Given the description of an element on the screen output the (x, y) to click on. 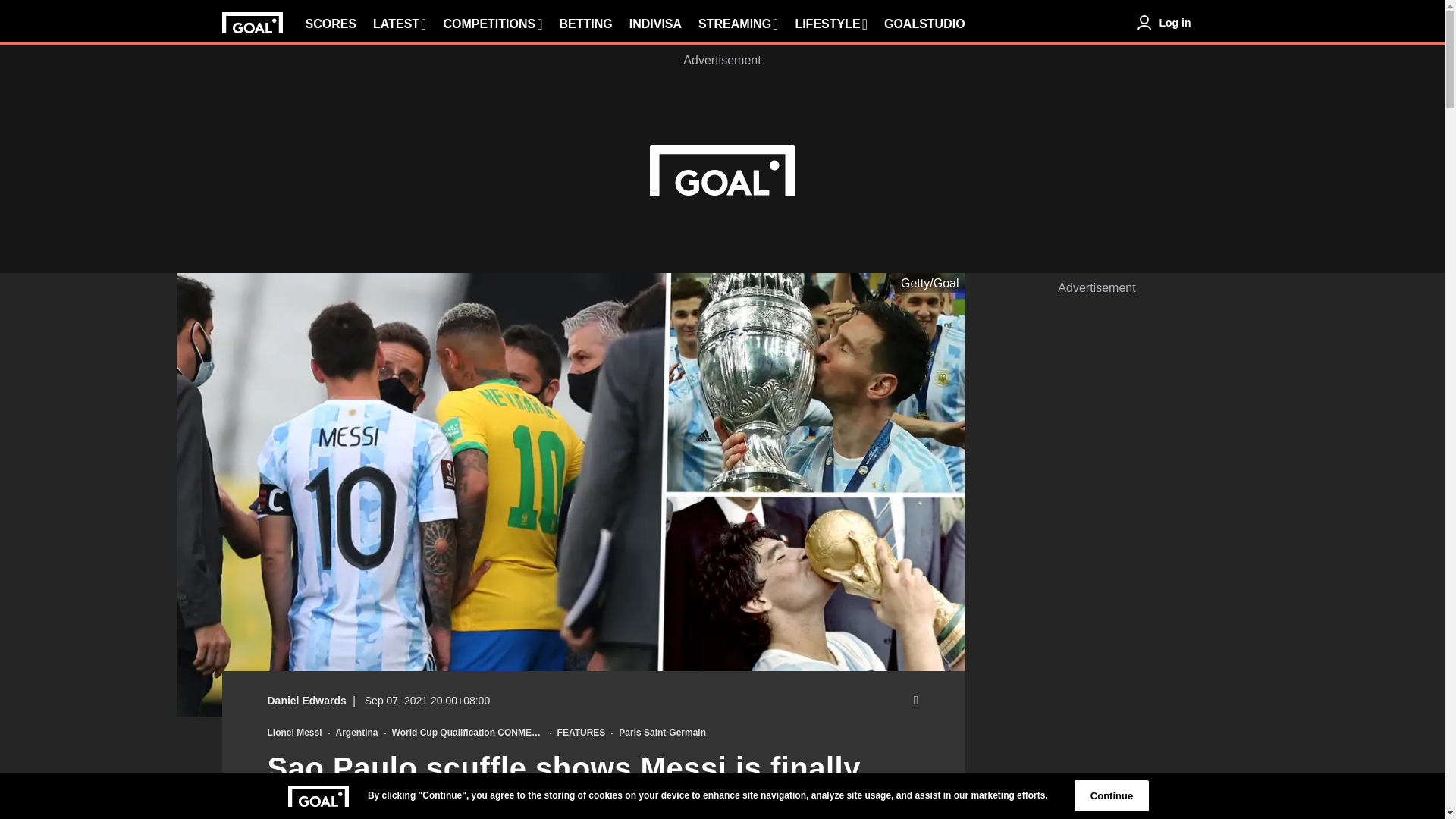
Argentina (357, 733)
Paris Saint-Germain (662, 733)
World Cup Qualification CONMEBOL (467, 733)
SCORES (330, 23)
COMPETITIONS (491, 23)
LATEST (399, 23)
Lionel Messi (293, 733)
FEATURES (581, 733)
